Given the description of an element on the screen output the (x, y) to click on. 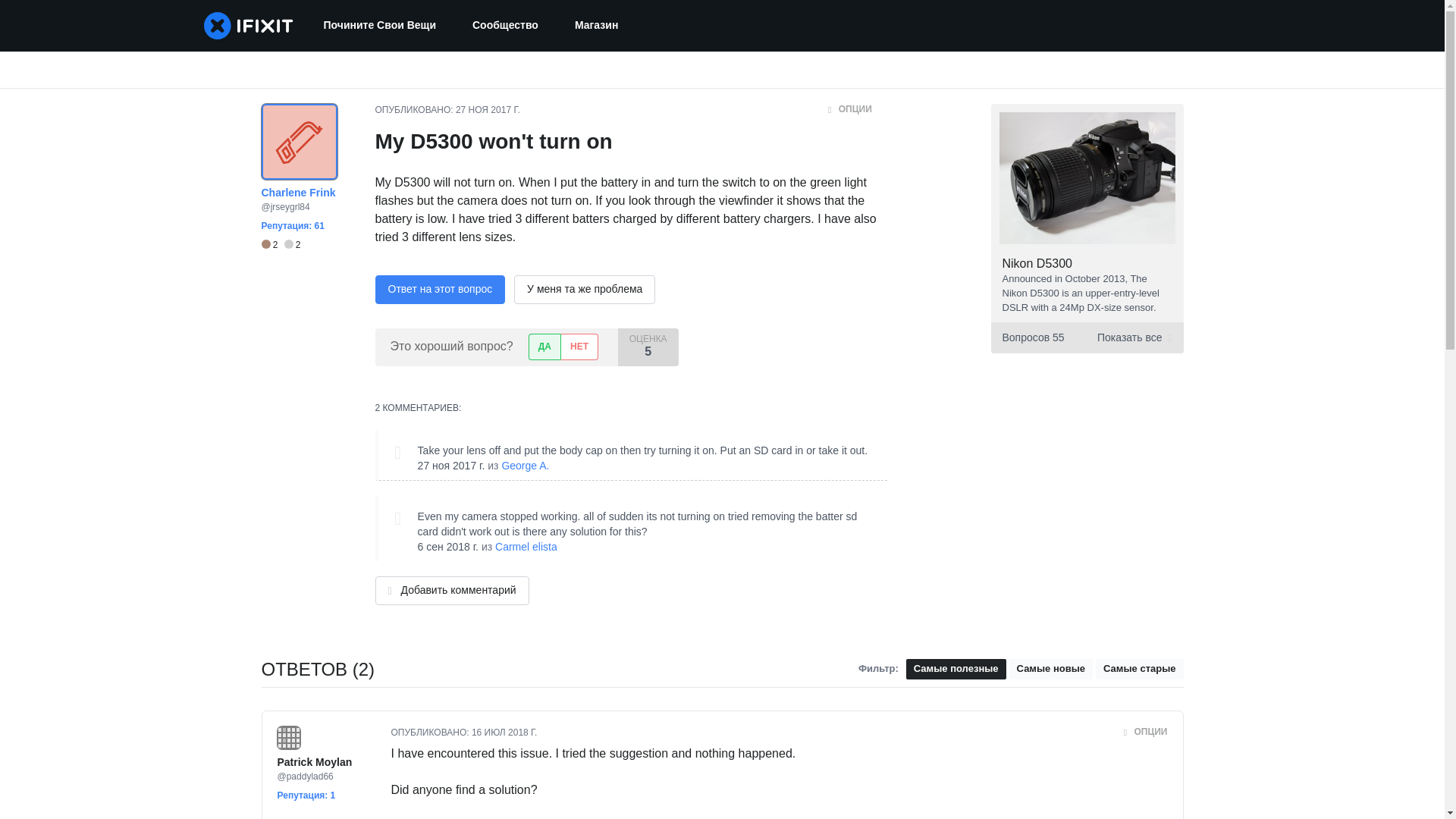
Nikon D5300 (1038, 263)
George A. (524, 465)
Mon, 27 Nov 2017 09:10:06 -0700 (487, 109)
Thu, 06 Sep 2018 08:26:31 -0700 (448, 546)
Mon, 16 Jul 2018 13:30:28 -0700 (504, 732)
Carmel elista (526, 546)
2 2 (279, 245)
Mon, 27 Nov 2017 09:13:59 -0700 (450, 465)
